Given the description of an element on the screen output the (x, y) to click on. 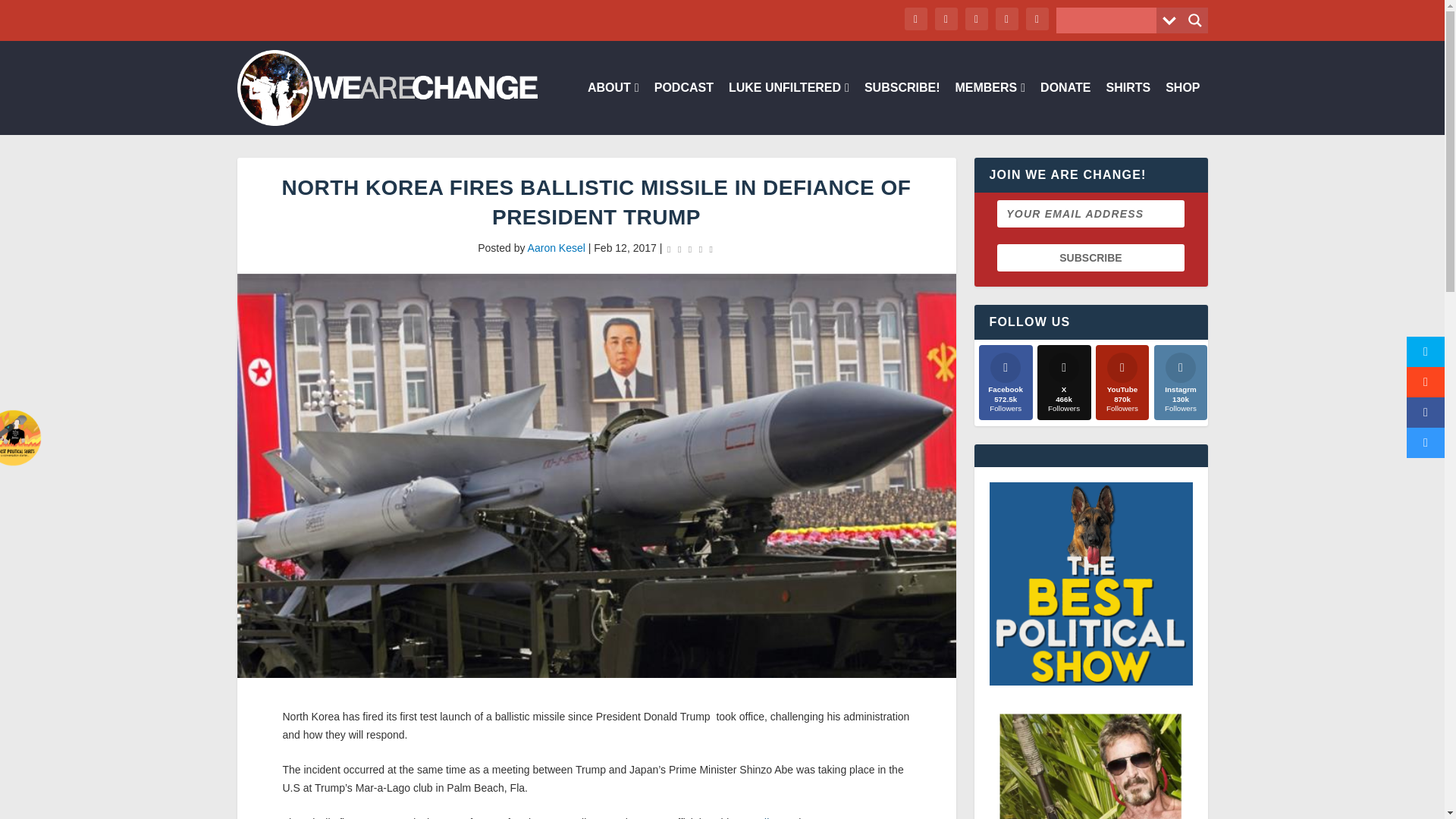
PODCAST (683, 108)
Posts by Aaron Kesel (556, 247)
LUKE UNFILTERED (788, 108)
MEMBERS (990, 108)
Subscribe (1090, 257)
Rating: 0.00 (689, 248)
DONATE (1065, 108)
SUBSCRIBE! (902, 108)
ABOUT (613, 108)
About (613, 108)
